Given the description of an element on the screen output the (x, y) to click on. 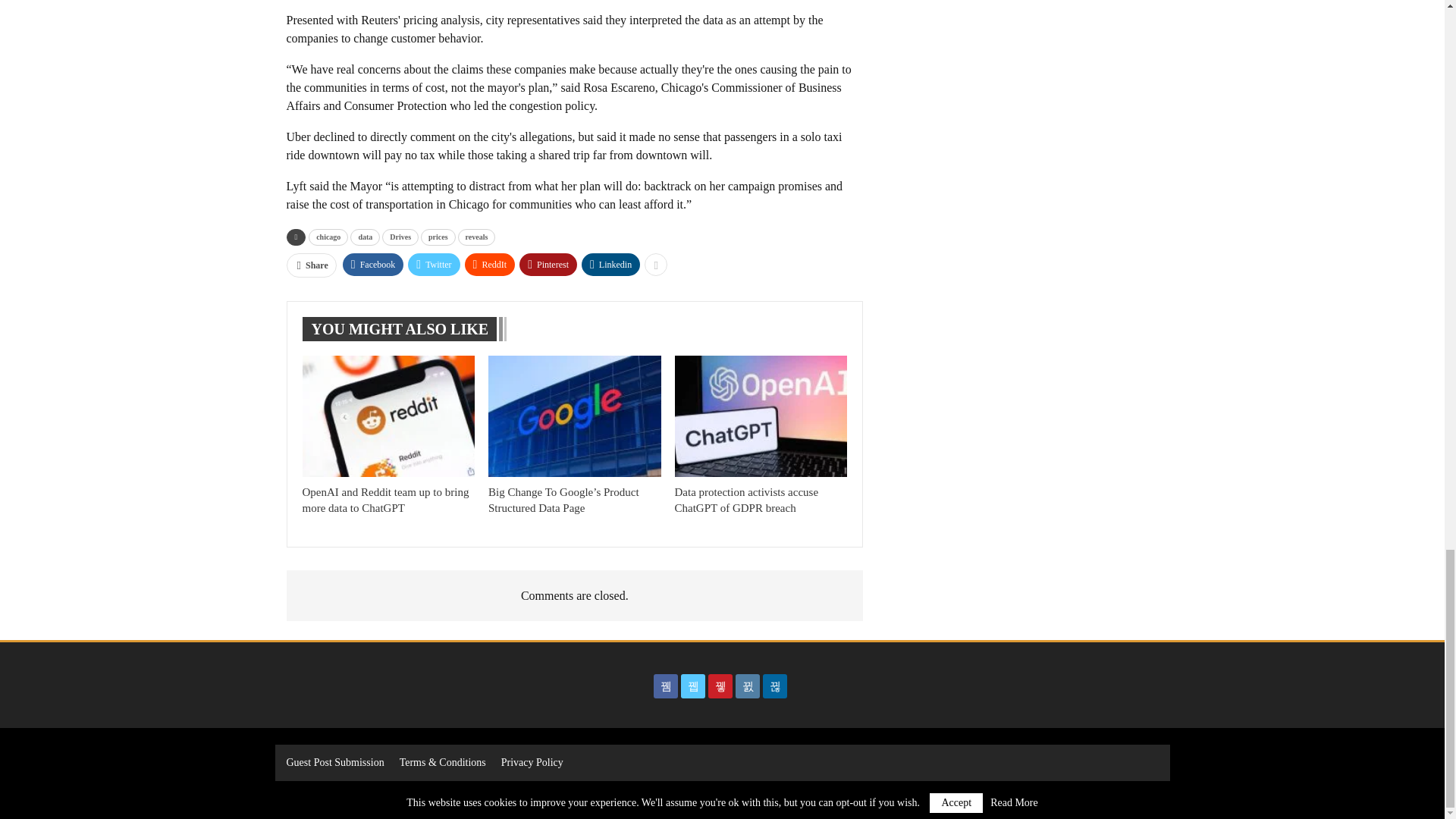
ReddIt (489, 263)
OpenAI and Reddit team up to bring more data to ChatGPT (384, 500)
Facebook (373, 263)
Data protection activists accuse ChatGPT of GDPR breach (761, 415)
reveals (477, 236)
chicago (327, 236)
Pinterest (547, 263)
Twitter (433, 263)
data (365, 236)
OpenAI and Reddit team up to bring more data to ChatGPT (387, 415)
prices (437, 236)
Data protection activists accuse ChatGPT of GDPR breach (746, 500)
Drives (400, 236)
